Given the description of an element on the screen output the (x, y) to click on. 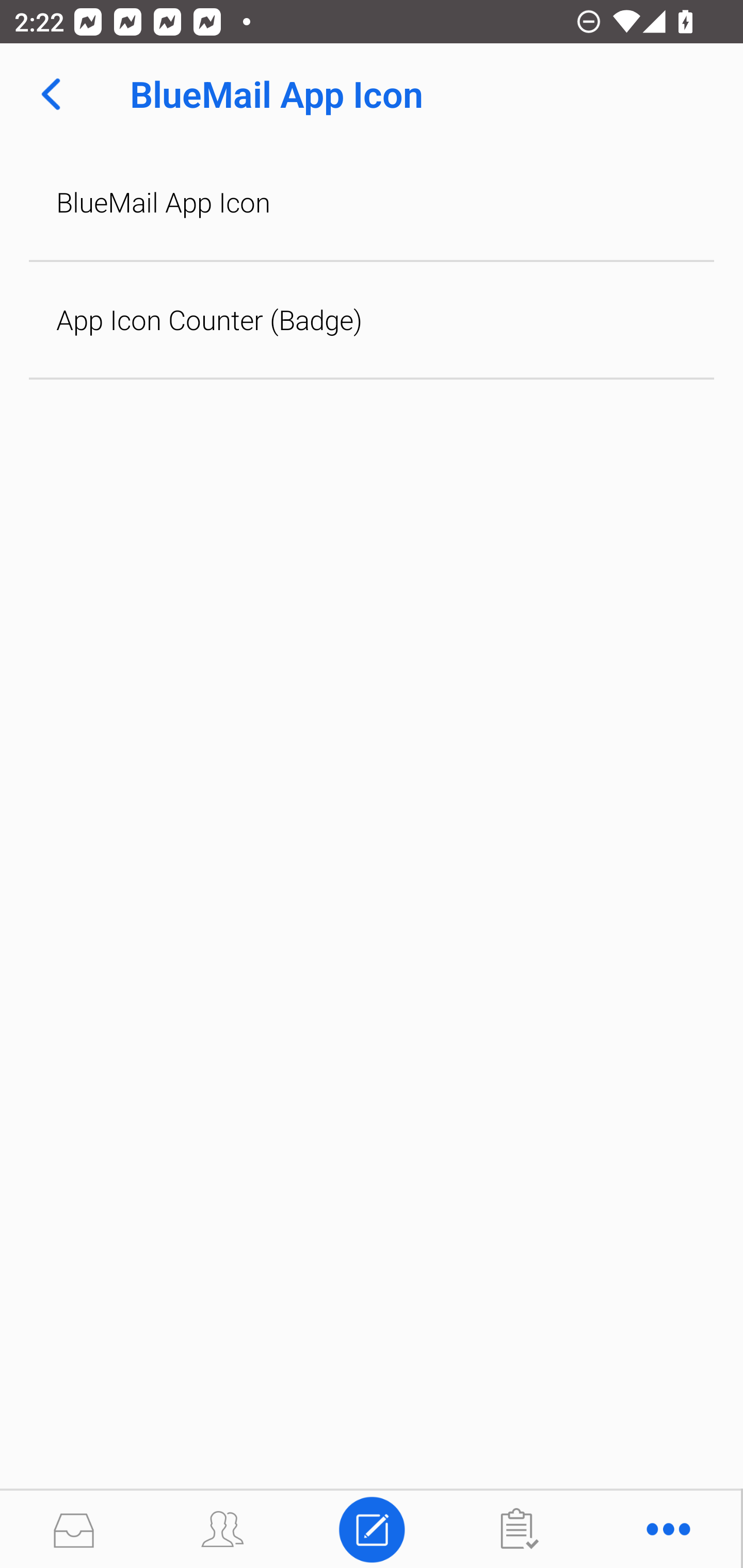
Navigate up (50, 93)
BlueMail App Icon (371, 202)
App Icon Counter (Badge) (371, 319)
